Given the description of an element on the screen output the (x, y) to click on. 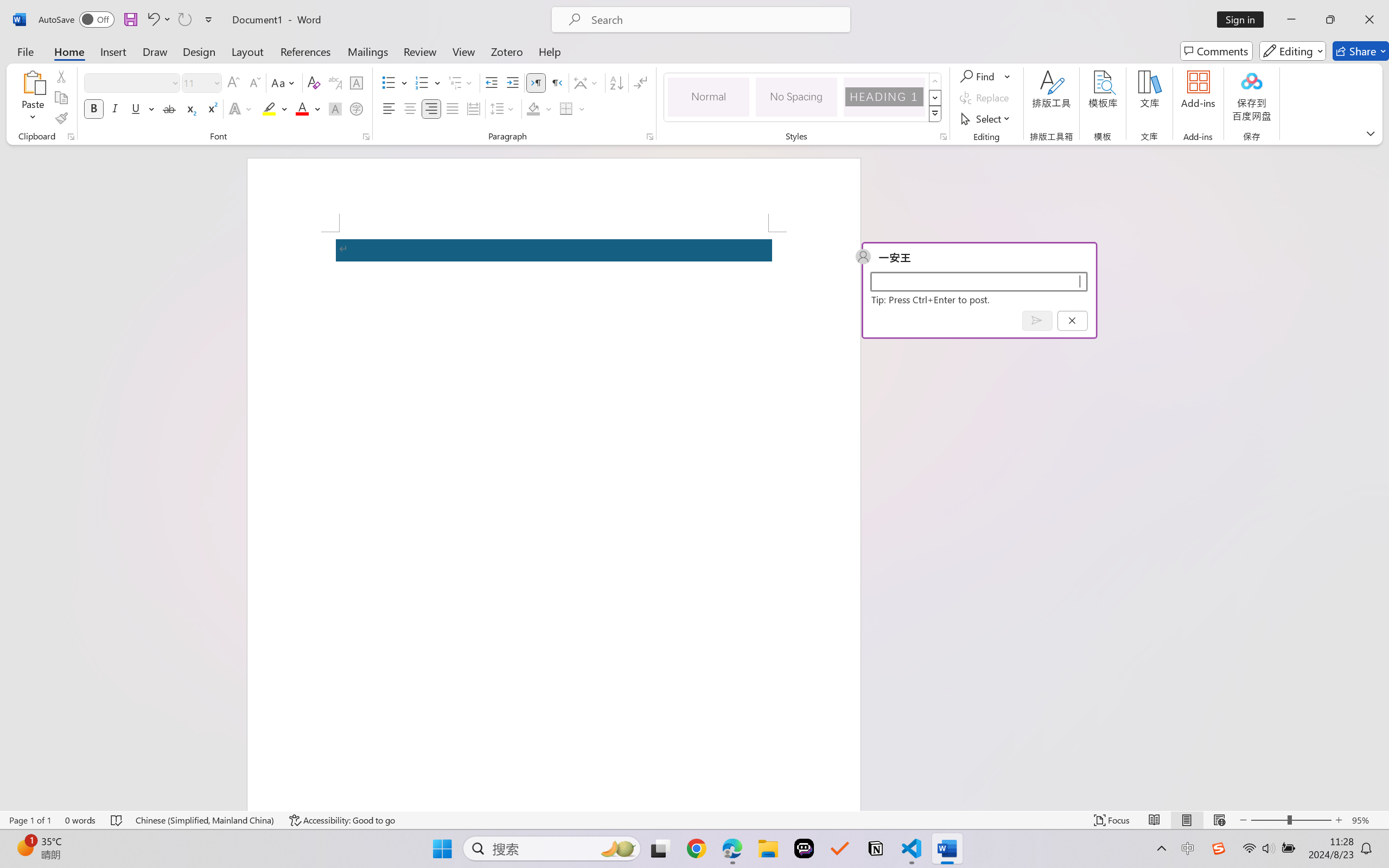
Language Chinese (Simplified, Mainland China) (205, 819)
Text Highlight Color RGB(255, 255, 0) (269, 108)
